Given the description of an element on the screen output the (x, y) to click on. 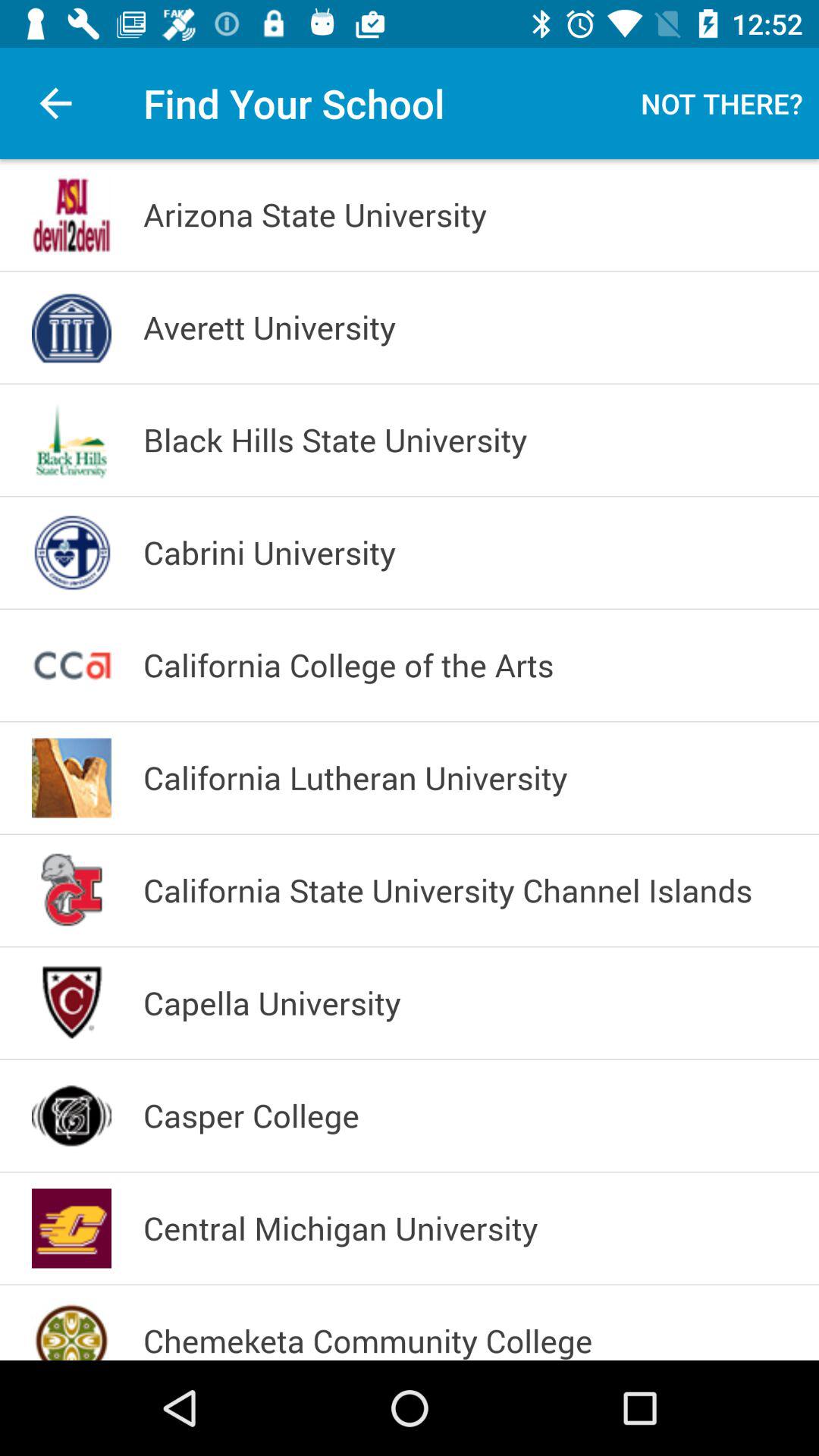
launch item next to the find your school app (722, 103)
